Given the description of an element on the screen output the (x, y) to click on. 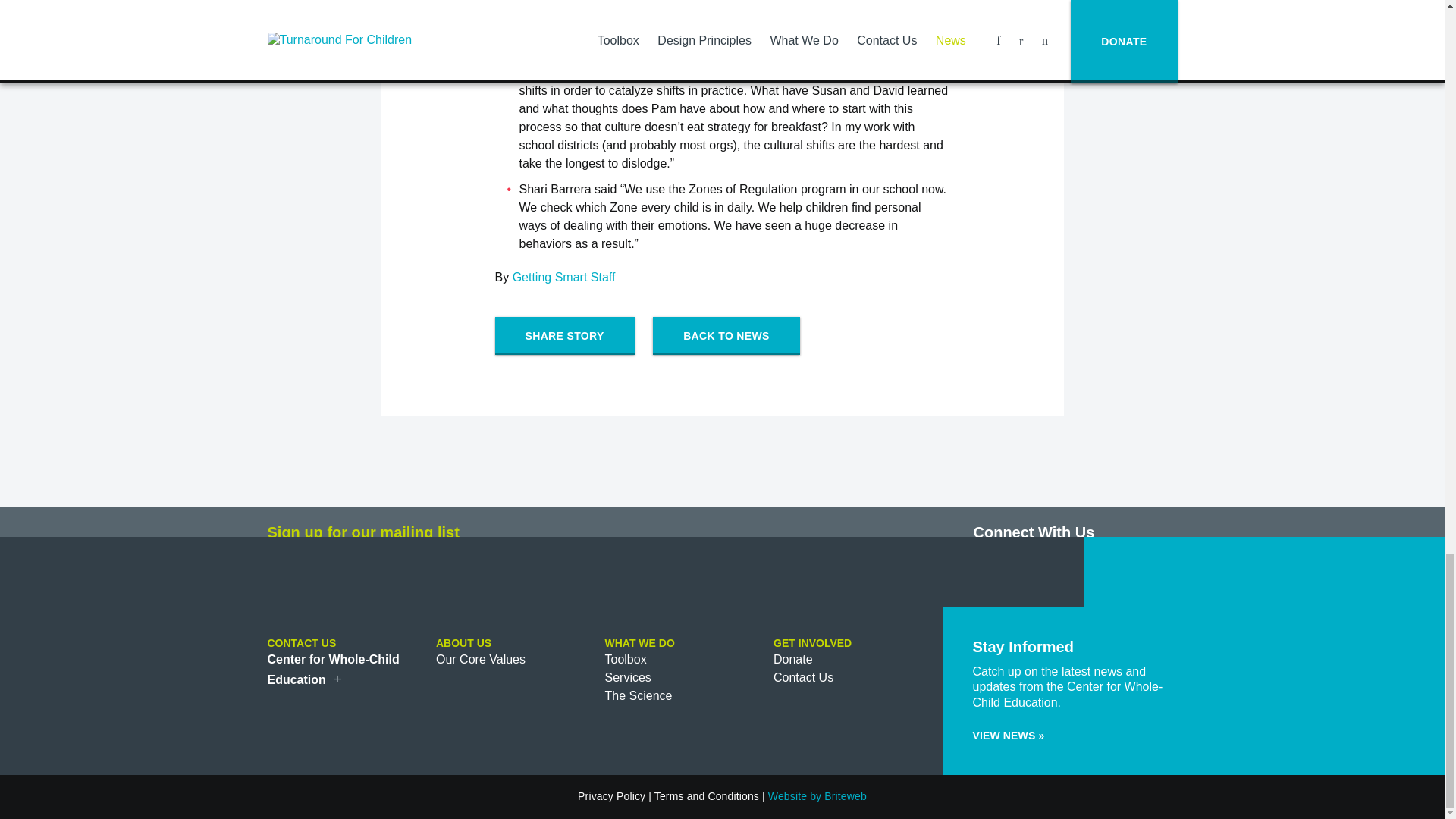
Terms and Conditions (705, 796)
Privacy Policy (611, 796)
Posts by Getting Smart Staff (563, 277)
